Given the description of an element on the screen output the (x, y) to click on. 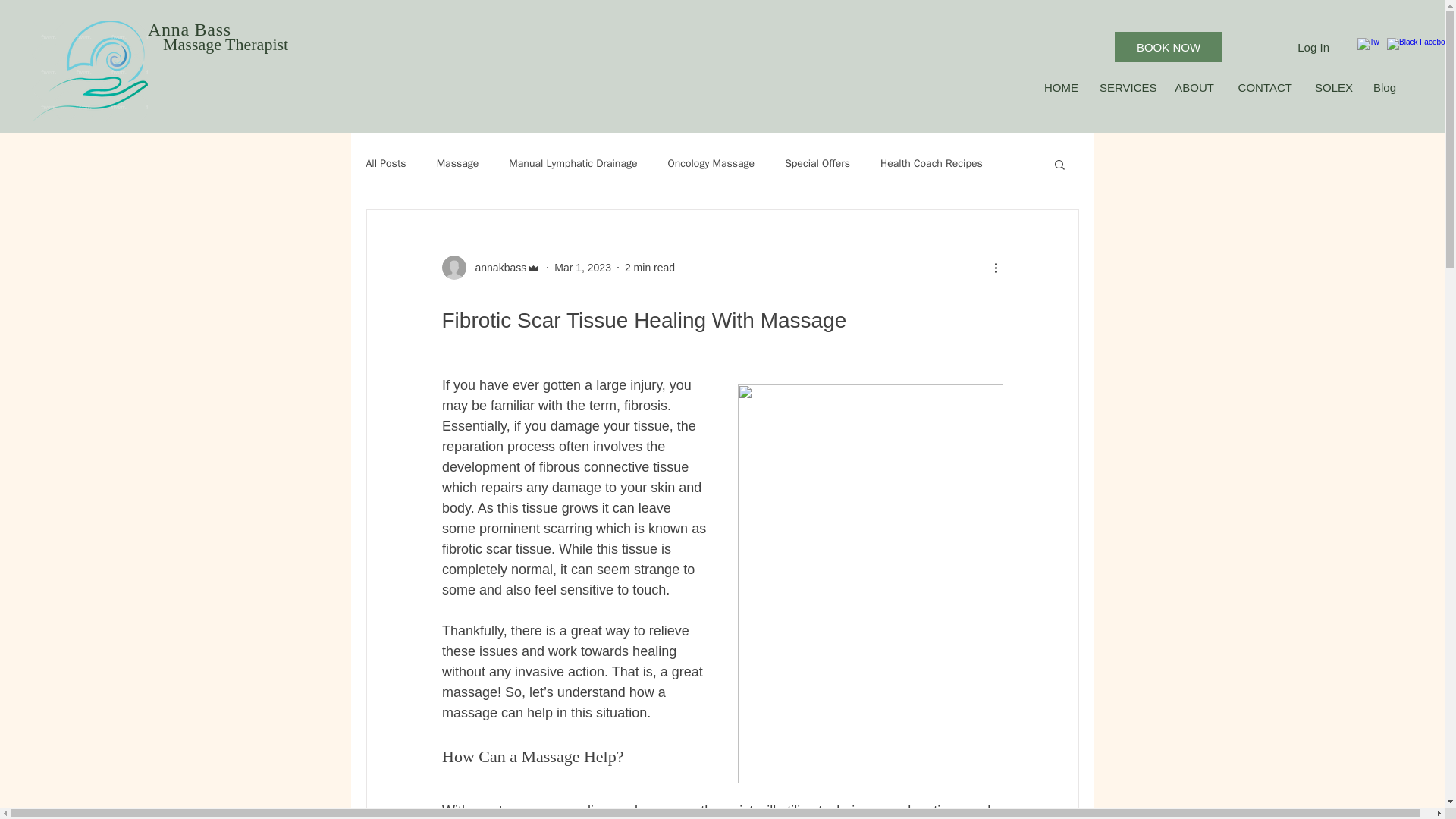
BOOK NOW (1169, 46)
annakbass (490, 267)
Massage (457, 163)
Blog (1384, 87)
HOME (1059, 87)
Special Offers (817, 163)
Manual Lymphatic Drainage (572, 163)
annakbass (495, 267)
ABOUT (1194, 87)
CONTACT (1264, 87)
